Given the description of an element on the screen output the (x, y) to click on. 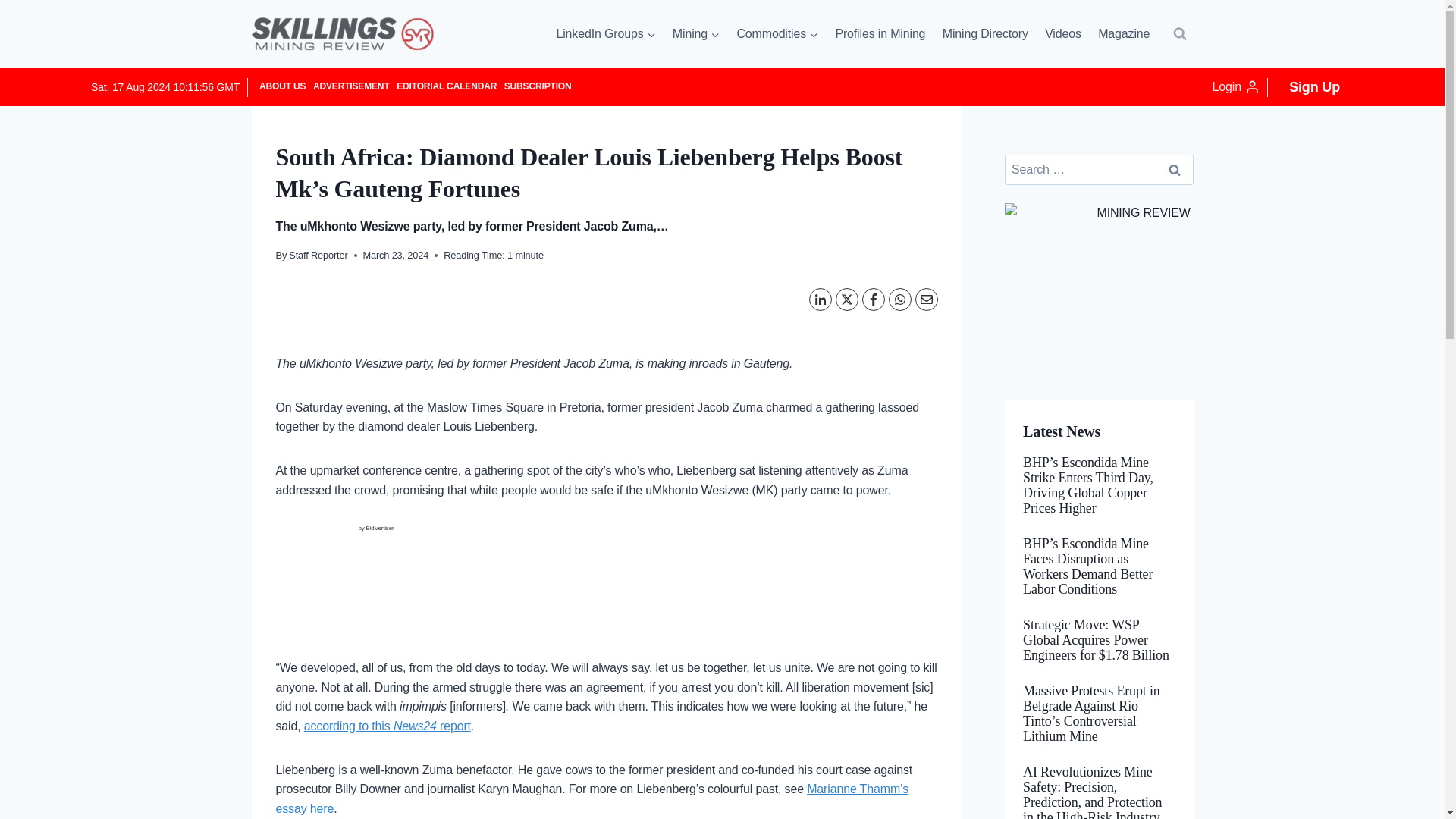
Search (1174, 169)
Magazine (1123, 34)
Login (1236, 87)
Videos (1062, 34)
LinkedIn Groups (605, 34)
Staff Reporter (317, 255)
Mining Directory (985, 34)
Commodities (777, 34)
Sign Up (1314, 86)
ADVERTISEMENT (350, 86)
